Given the description of an element on the screen output the (x, y) to click on. 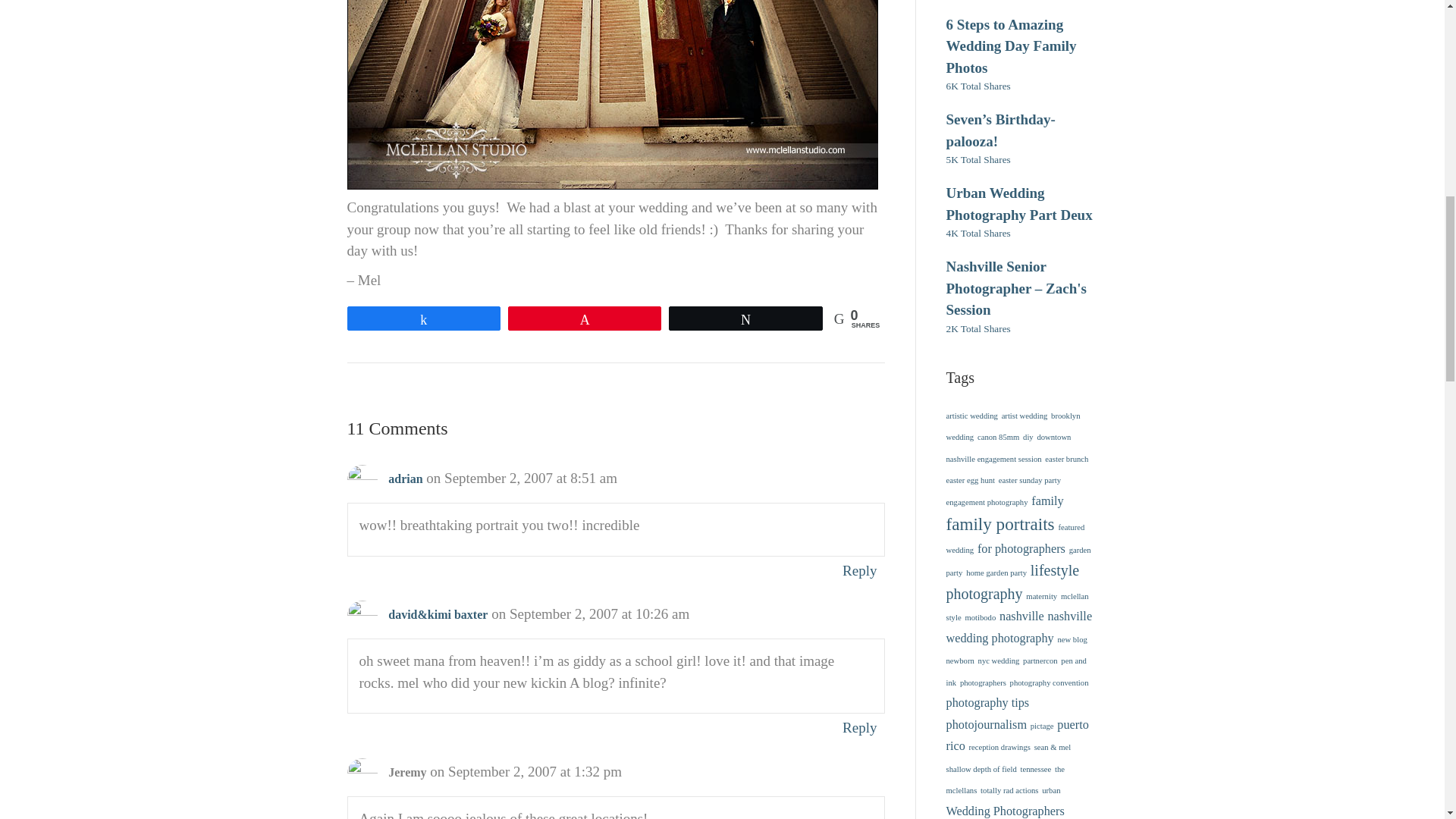
adrian (405, 478)
Reply (859, 570)
Reply (859, 727)
